Given the description of an element on the screen output the (x, y) to click on. 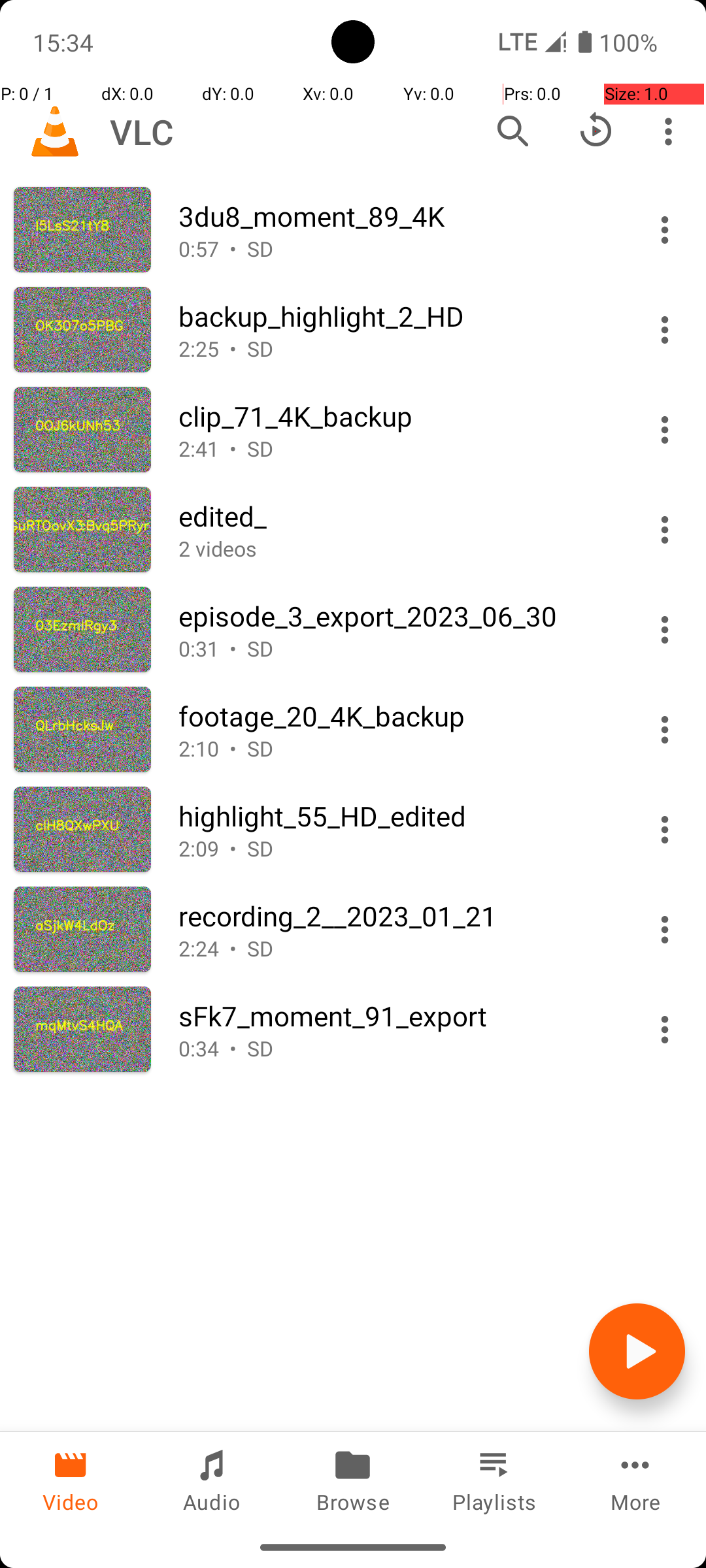
Resume playback Element type: android.widget.TextView (595, 131)
Video: 3du8_moment_89_4K, Duration: 57 seconds Element type: android.view.ViewGroup (353, 229)
Video: backup_highlight_2_HD, Duration: 2 minutes 25 seconds Element type: android.view.ViewGroup (353, 329)
Video: clip_71_4K_backup, Duration: 2 minutes 41 seconds Element type: android.view.ViewGroup (353, 429)
Video group: edited_, 2 videos Element type: android.view.ViewGroup (353, 529)
Video: episode_3_export_2023_06_30, Duration: 31 seconds Element type: android.view.ViewGroup (353, 629)
Video: footage_20_4K_backup, Duration: 2 minutes 10 seconds Element type: android.view.ViewGroup (353, 729)
Video: highlight_55_HD_edited, Duration: 2 minutes 9 seconds Element type: android.view.ViewGroup (353, 829)
Video: recording_2__2023_01_21, Duration: 2 minutes 24 seconds Element type: android.view.ViewGroup (353, 929)
Video: sFk7_moment_91_export, Duration: 34 seconds Element type: android.view.ViewGroup (353, 1029)
3du8_moment_89_4K Element type: android.widget.TextView (397, 215)
0:57  •  SD Element type: android.widget.TextView (397, 248)
backup_highlight_2_HD Element type: android.widget.TextView (397, 315)
2:25  •  SD Element type: android.widget.TextView (397, 348)
clip_71_4K_backup Element type: android.widget.TextView (397, 415)
2:41  •  SD Element type: android.widget.TextView (397, 448)
edited_ Element type: android.widget.TextView (397, 515)
2 videos Element type: android.widget.TextView (397, 548)
episode_3_export_2023_06_30 Element type: android.widget.TextView (397, 615)
0:31  •  SD Element type: android.widget.TextView (397, 648)
footage_20_4K_backup Element type: android.widget.TextView (397, 715)
2:10  •  SD Element type: android.widget.TextView (397, 748)
highlight_55_HD_edited Element type: android.widget.TextView (397, 815)
2:09  •  SD Element type: android.widget.TextView (397, 848)
recording_2__2023_01_21 Element type: android.widget.TextView (397, 915)
2:24  •  SD Element type: android.widget.TextView (397, 948)
sFk7_moment_91_export Element type: android.widget.TextView (397, 1015)
0:34  •  SD Element type: android.widget.TextView (397, 1048)
